Given the description of an element on the screen output the (x, y) to click on. 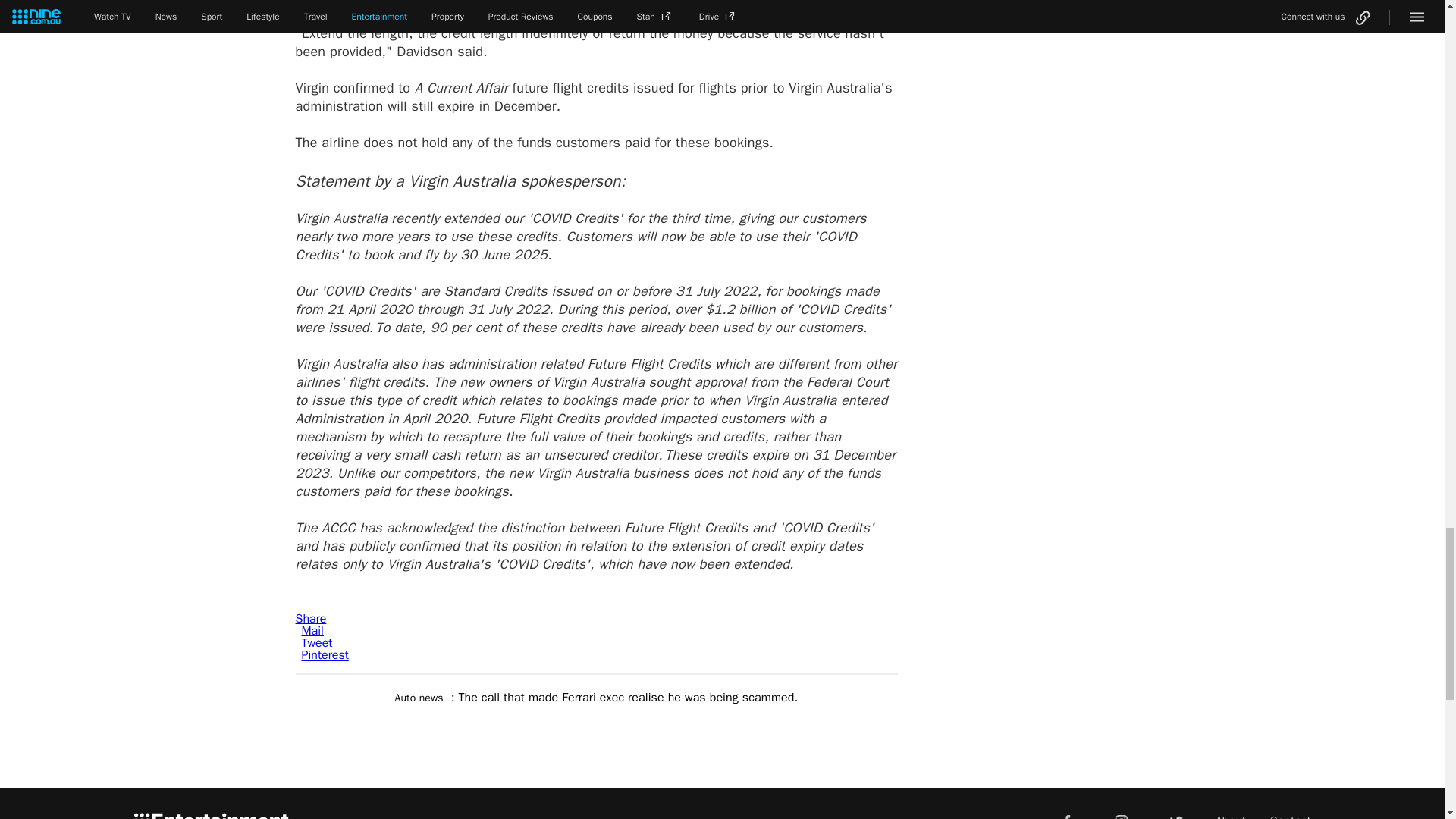
facebook (1066, 812)
Contact (1290, 816)
Mail (312, 630)
Share (310, 618)
twitter (1175, 812)
Tweet (317, 642)
Pinterest (325, 654)
instagram (1121, 812)
About (1230, 816)
